Given the description of an element on the screen output the (x, y) to click on. 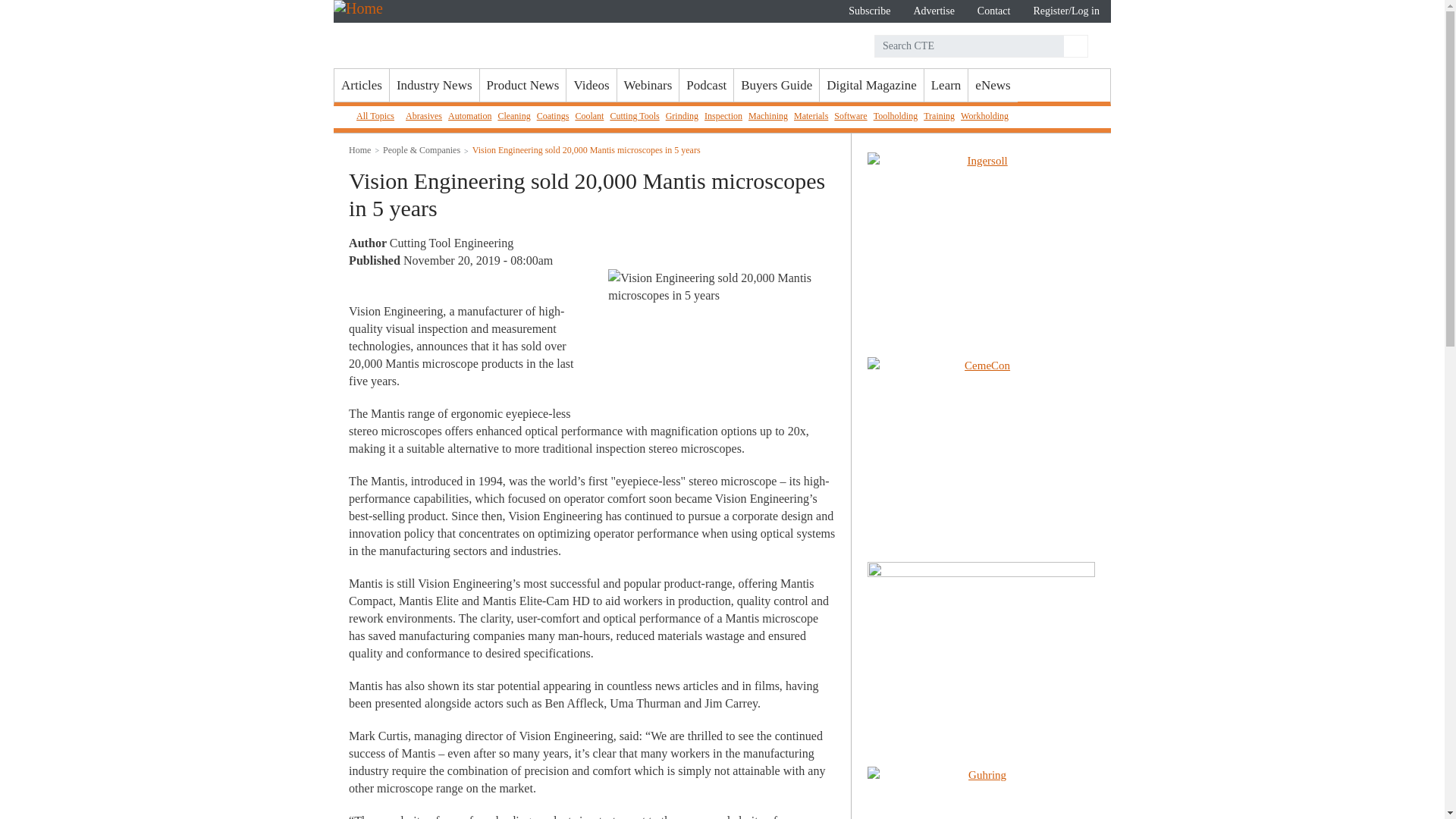
Learn (946, 84)
Buyers Guide (775, 84)
Home (439, 33)
Digital Magazine (871, 84)
Expand menu Industry News (434, 84)
Subscribe (869, 11)
Industry News (434, 84)
Product News (523, 84)
Webinars (648, 84)
Search (1074, 46)
